Given the description of an element on the screen output the (x, y) to click on. 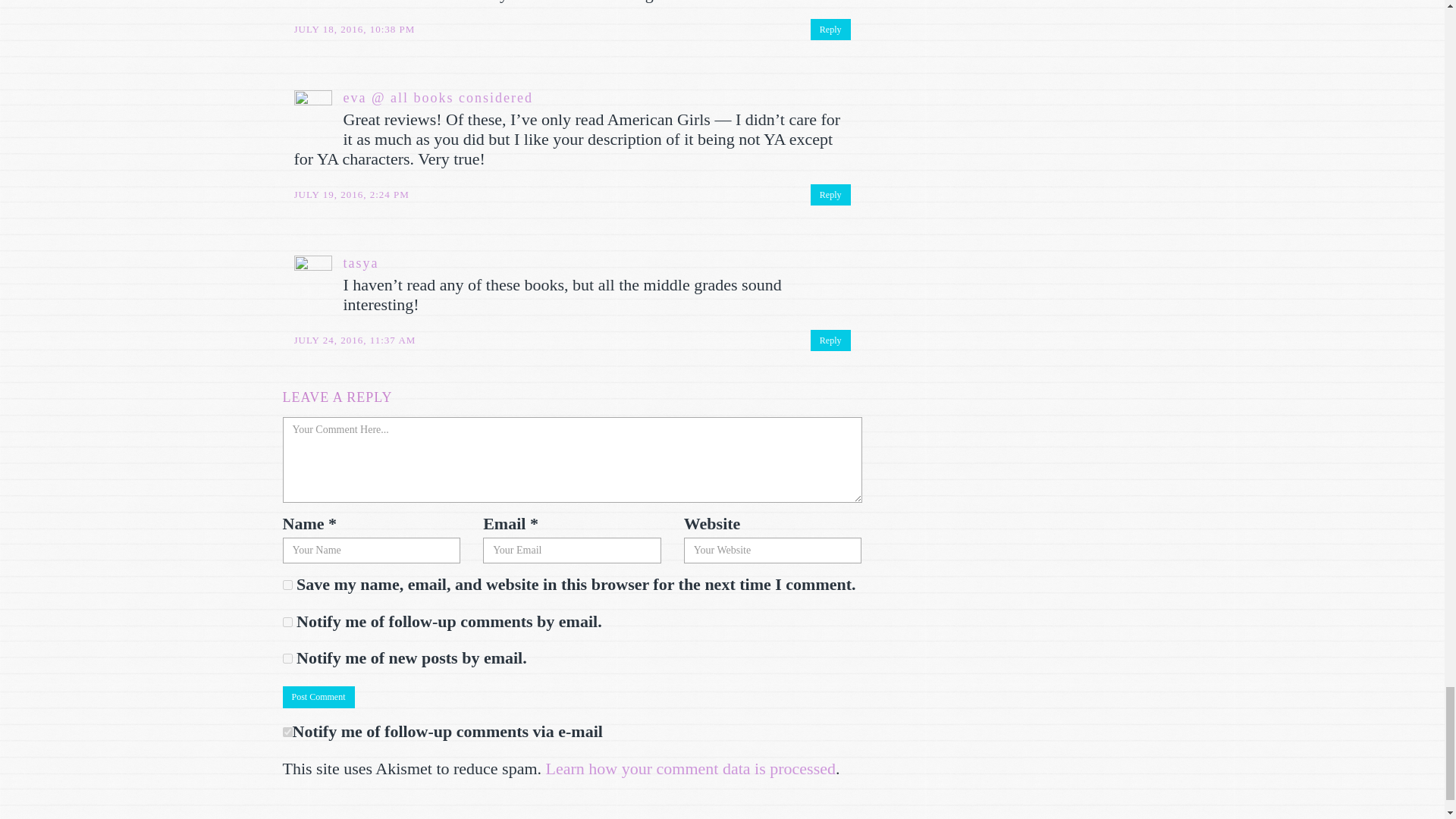
subscribe (287, 622)
subscribe (287, 658)
Post Comment (317, 697)
yes (287, 584)
